Given the description of an element on the screen output the (x, y) to click on. 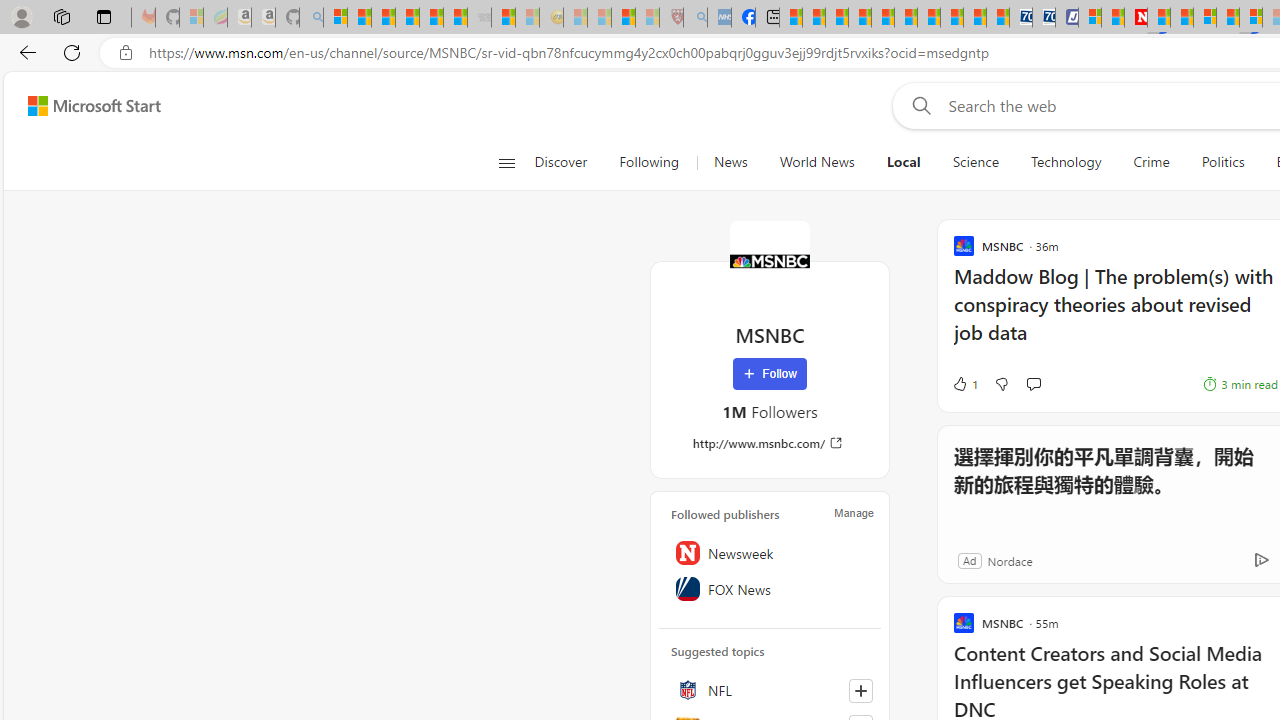
Follow (769, 373)
